Given the description of an element on the screen output the (x, y) to click on. 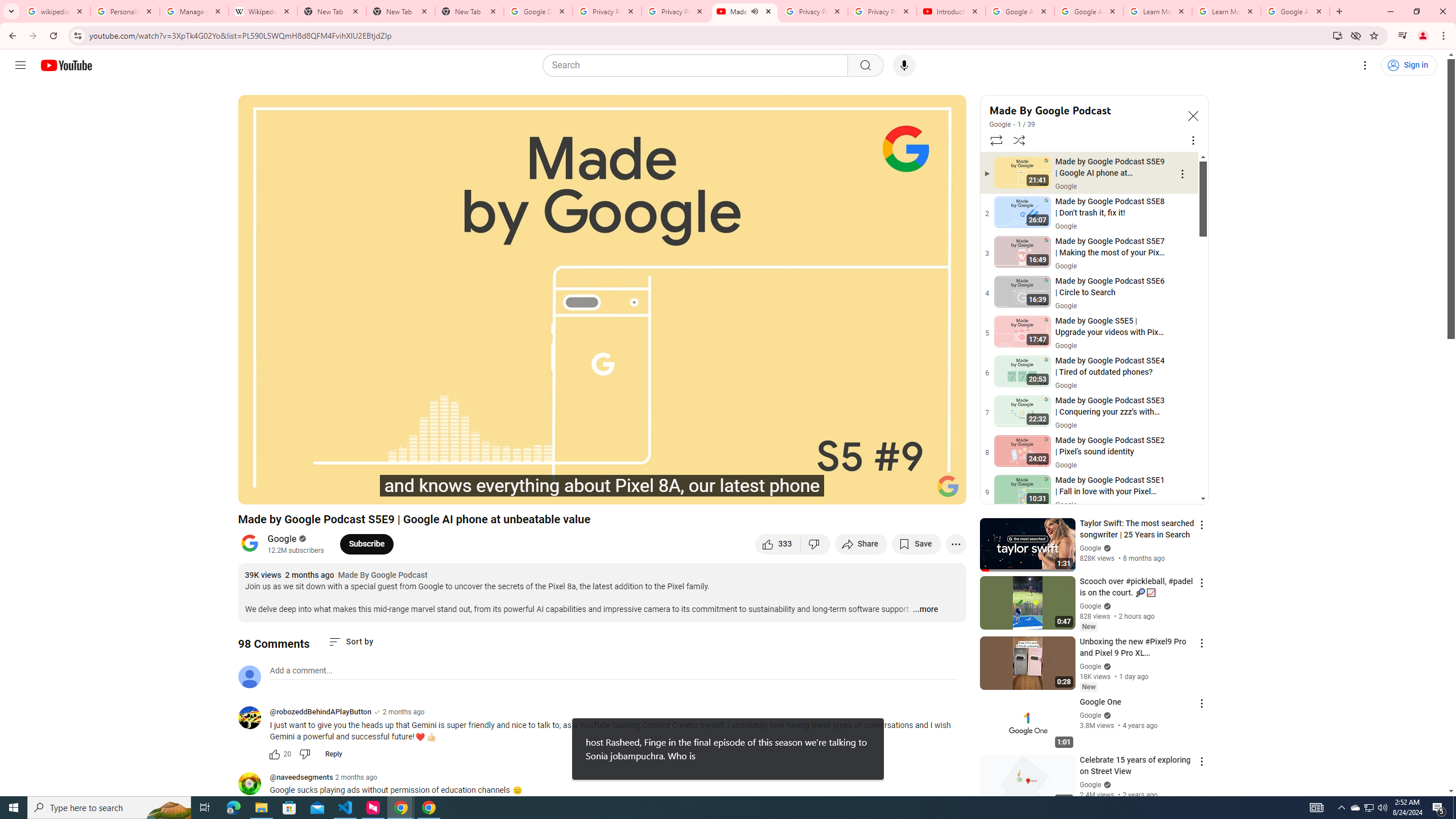
Previous (SHIFT+p) (259, 490)
AutomationID: simplebox-placeholder (301, 670)
Verified (1106, 784)
Like this comment along with 20 other people (273, 754)
Channel watermark (947, 486)
Dislike this video (815, 543)
@naveedsegments (301, 777)
Install YouTube (1336, 35)
